Given the description of an element on the screen output the (x, y) to click on. 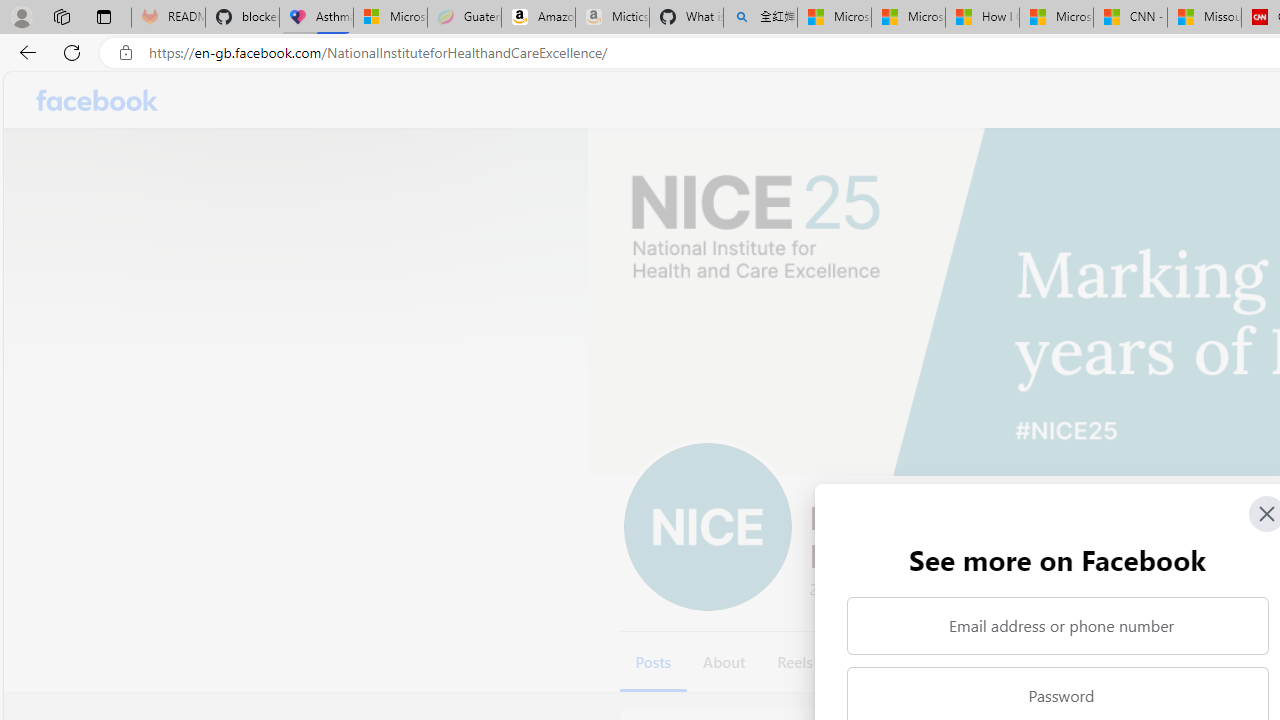
Asthma Inhalers: Names and Types (316, 17)
CNN - MSN (1130, 17)
Email address or phone number (1057, 625)
